Given the description of an element on the screen output the (x, y) to click on. 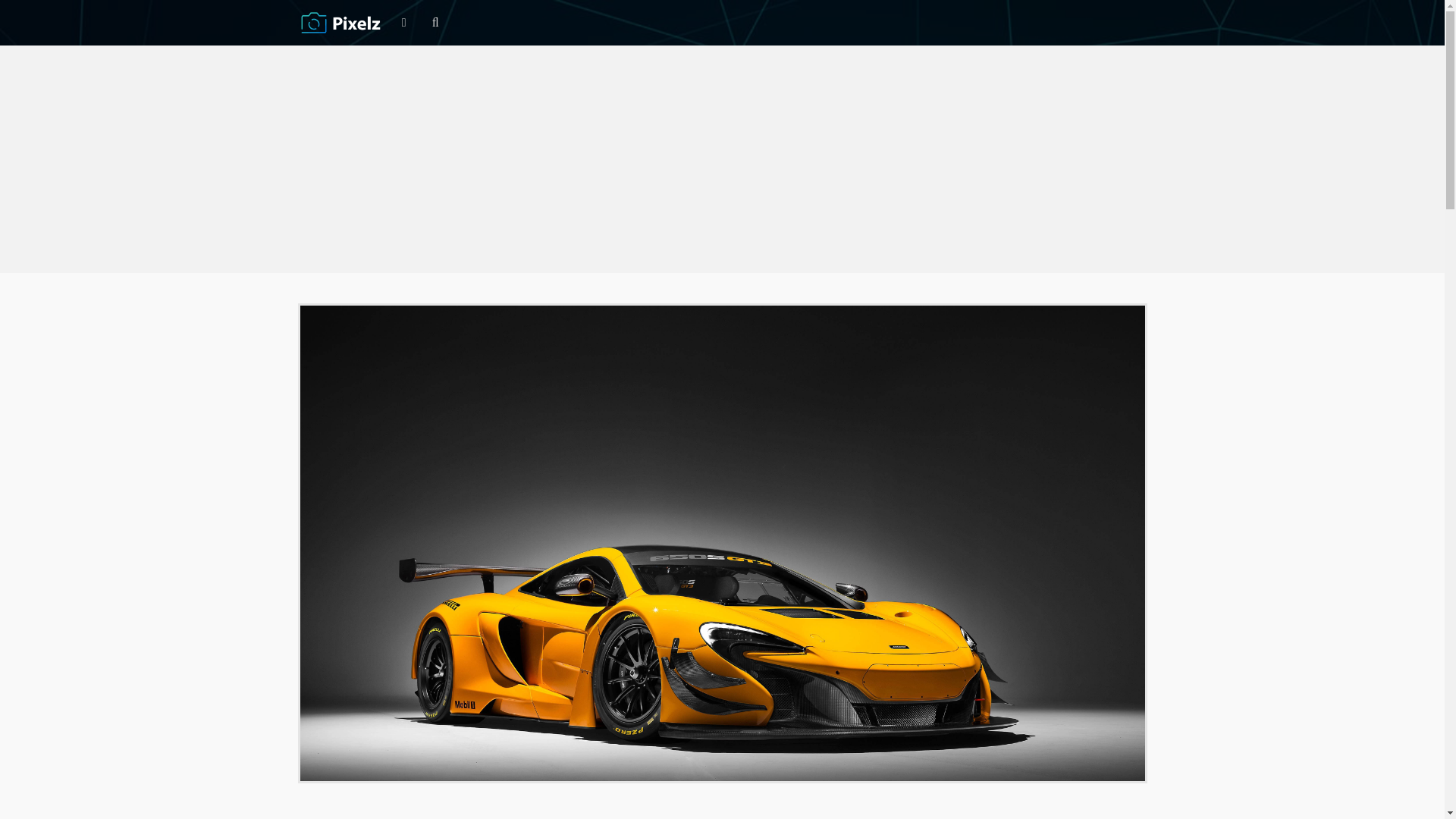
Pixelz (341, 22)
